Given the description of an element on the screen output the (x, y) to click on. 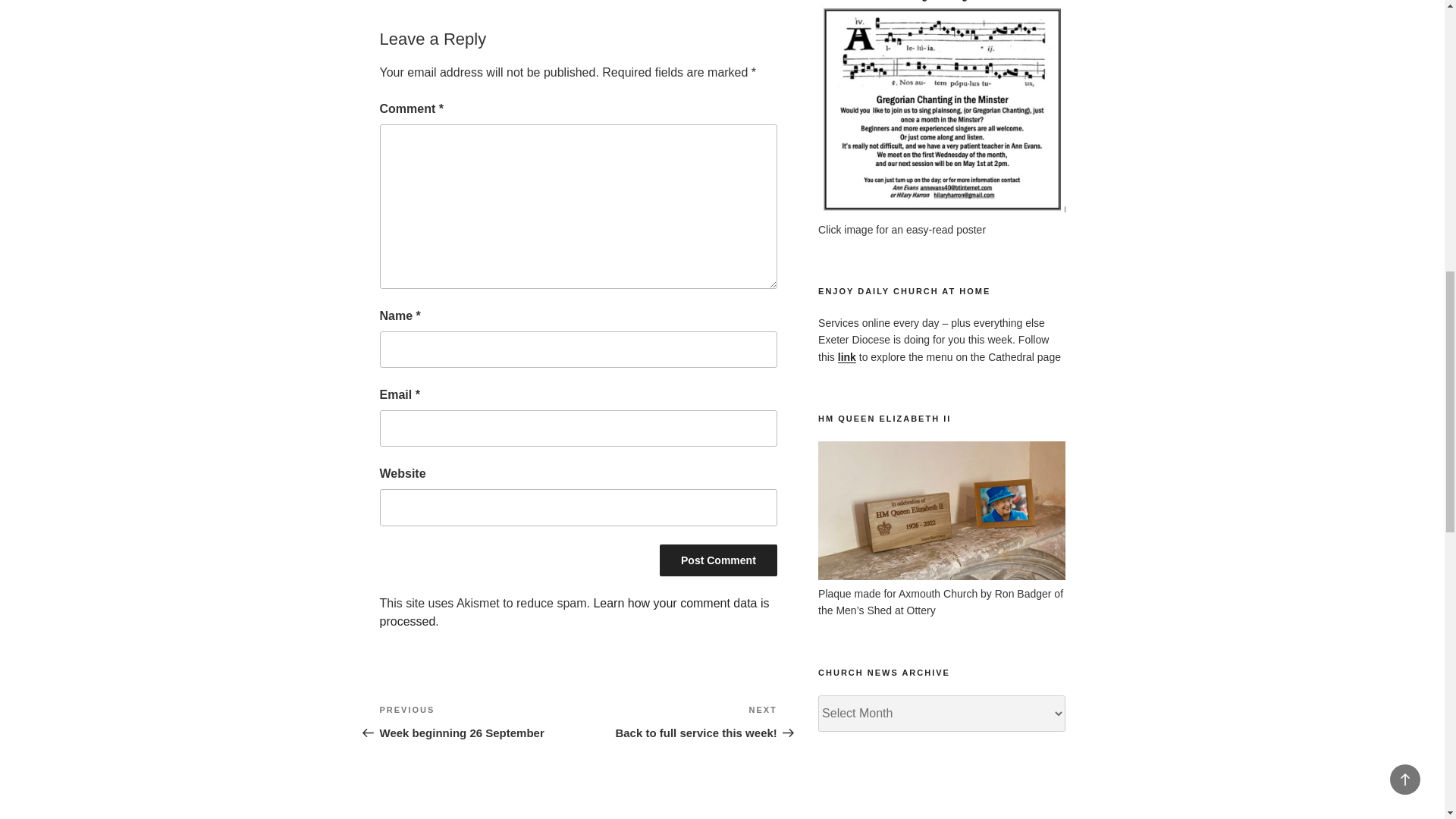
Post Comment (718, 560)
Mayday chanting at Axminster (941, 213)
HM Queen Elizabeth II (941, 576)
